Given the description of an element on the screen output the (x, y) to click on. 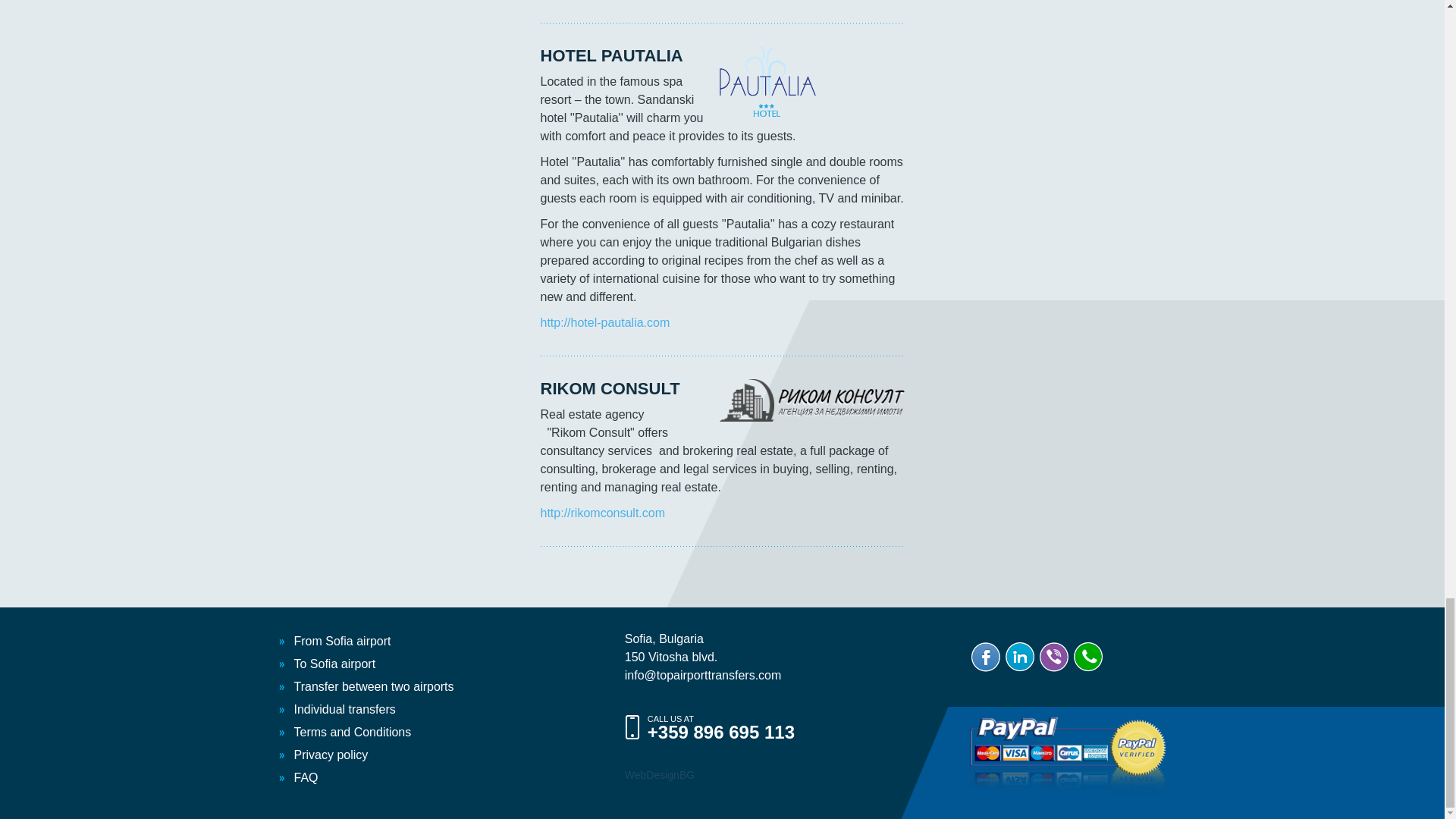
Hotel Pautalia (767, 81)
Rikom Consult (811, 400)
